Given the description of an element on the screen output the (x, y) to click on. 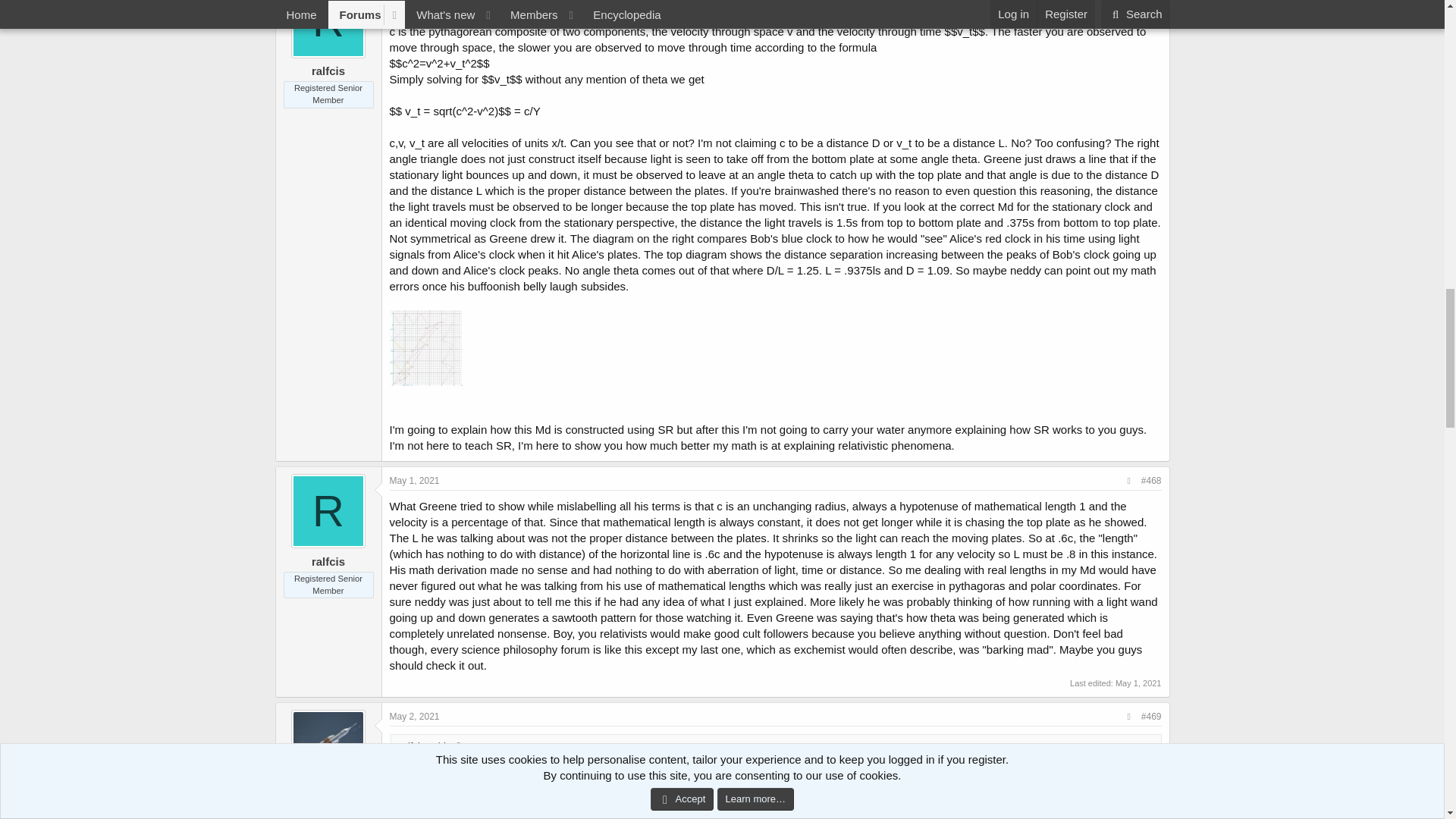
.1b9.jpg (426, 347)
May 1, 2021 at 8:43 PM (414, 480)
